Given the description of an element on the screen output the (x, y) to click on. 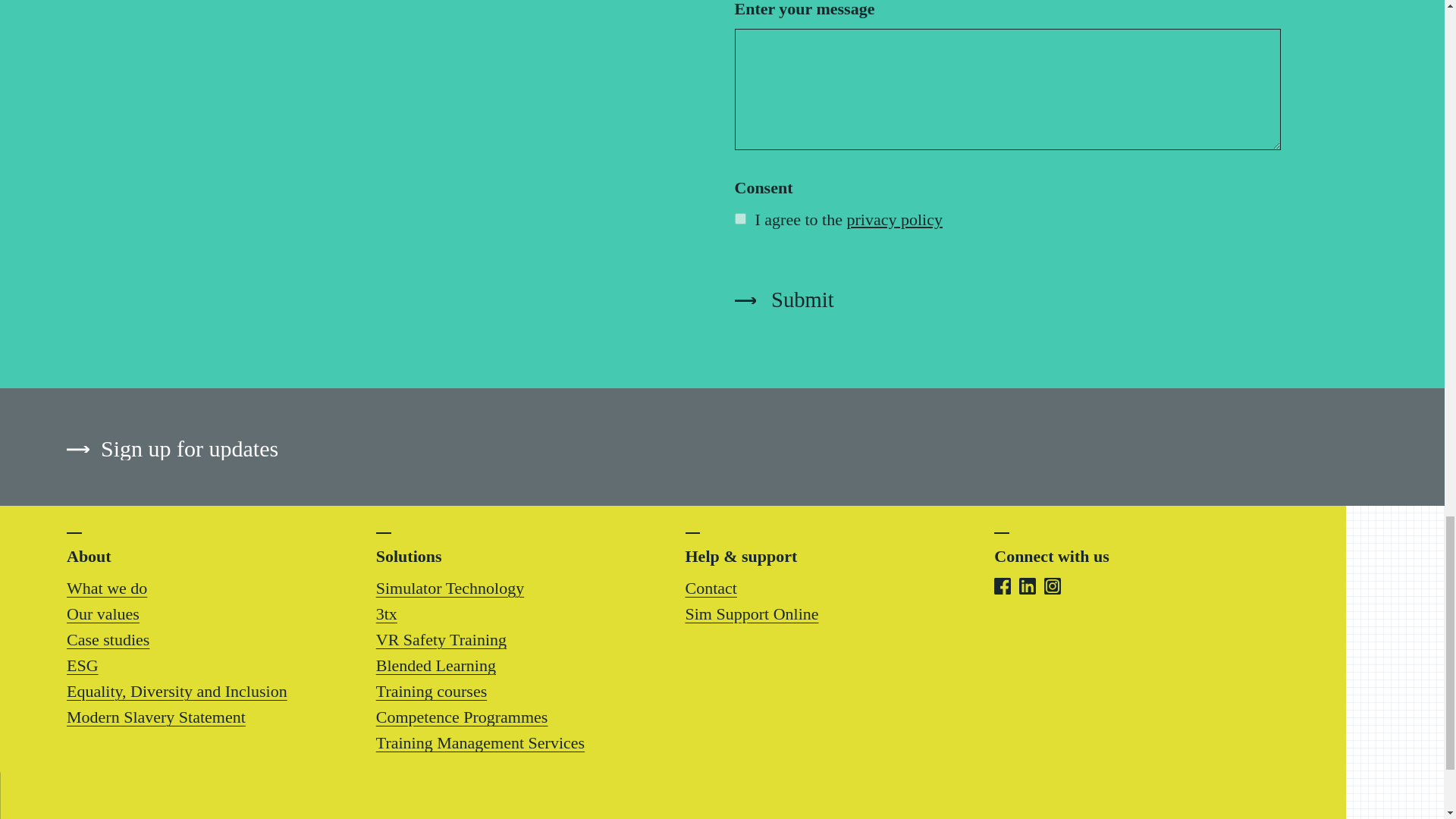
1 (739, 218)
